Given the description of an element on the screen output the (x, y) to click on. 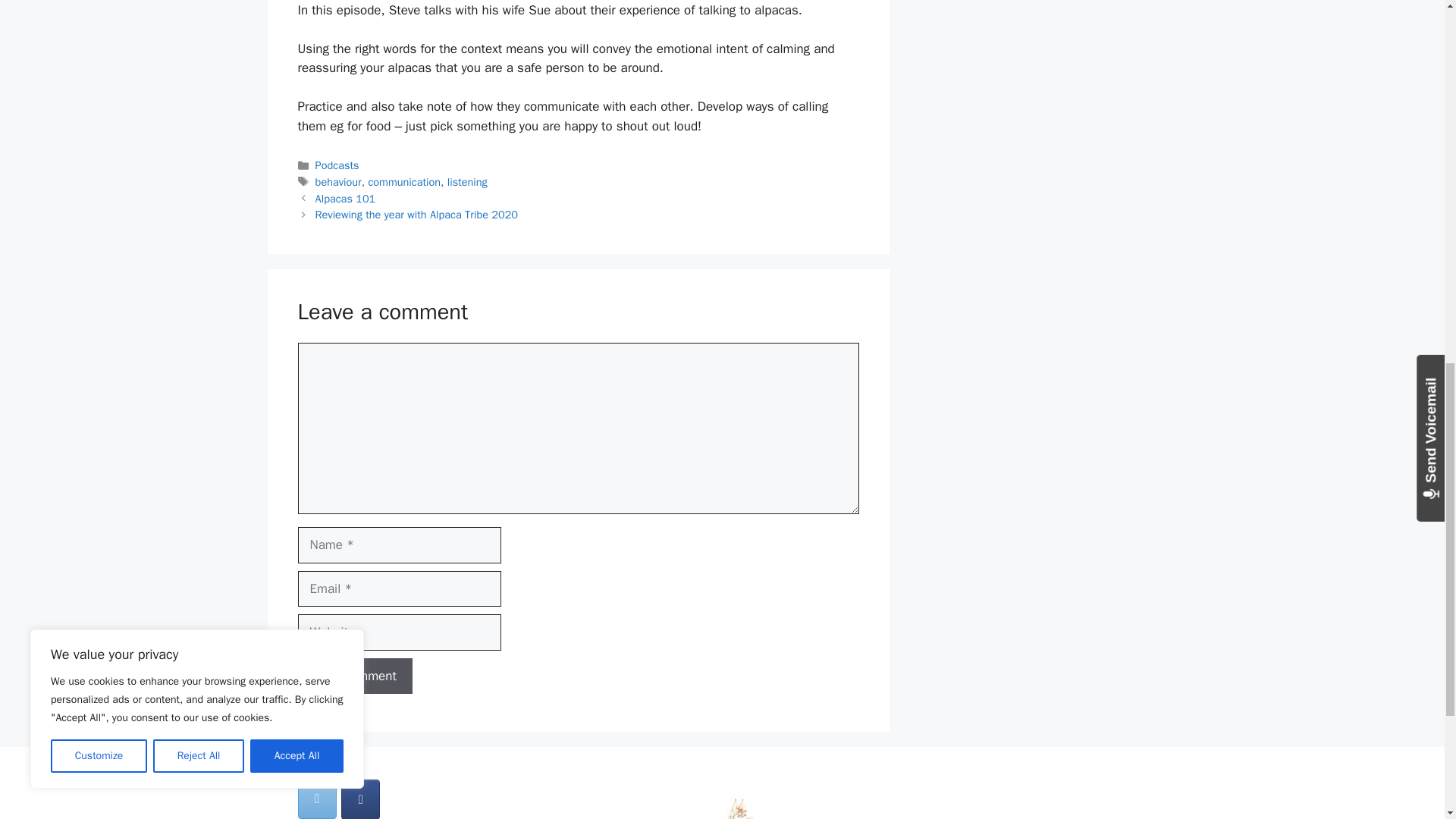
Post Comment (354, 676)
Podcasts (337, 164)
communication (404, 182)
Alpaca Tribe on Facebook (360, 799)
Alpaca Tribe on Envelope (316, 798)
listening (466, 182)
Alpacas 101 (345, 197)
Post Comment (354, 676)
Reviewing the year with Alpaca Tribe 2020 (416, 214)
behaviour (338, 182)
